Given the description of an element on the screen output the (x, y) to click on. 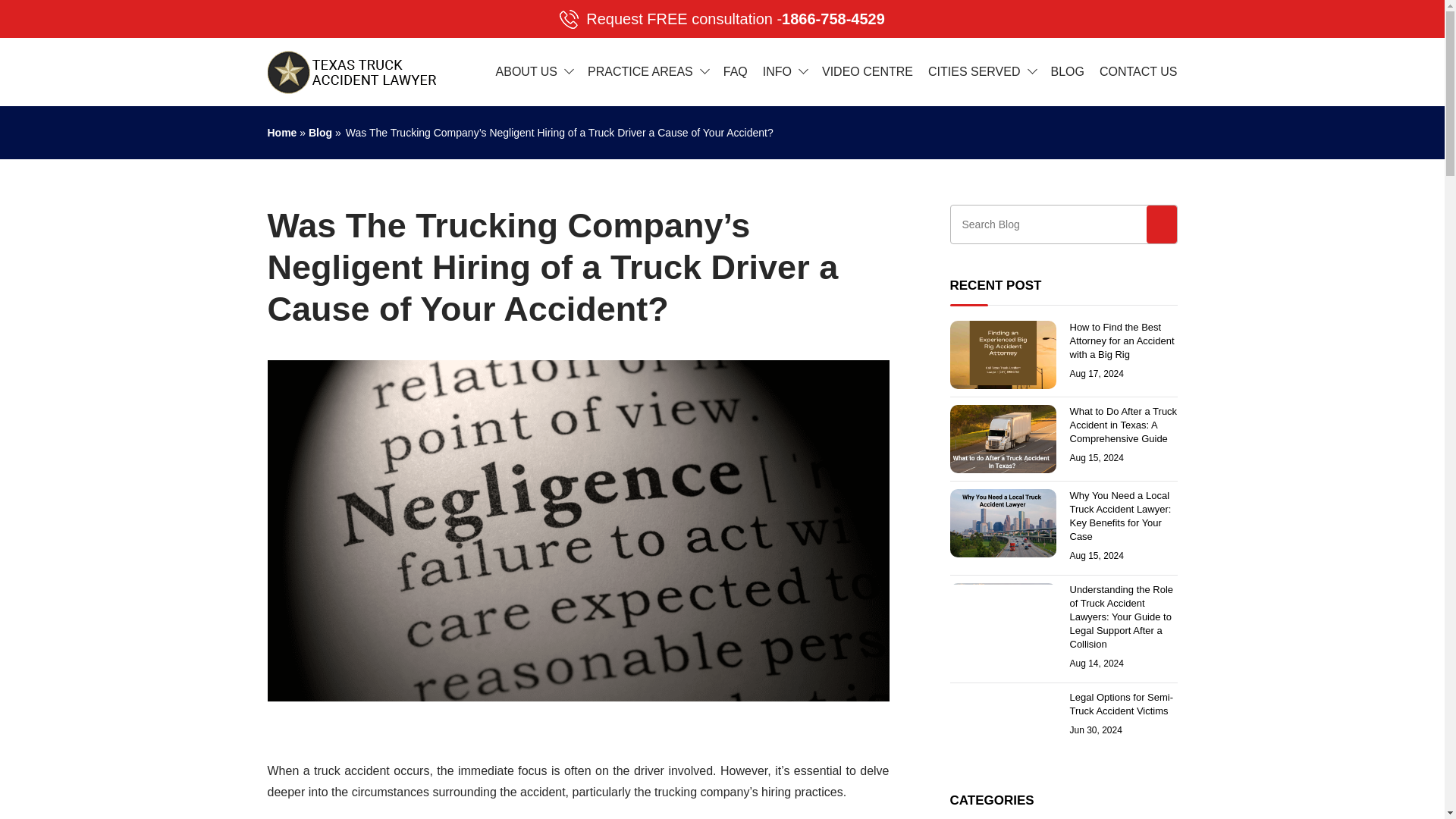
ABOUT US (526, 71)
PRACTICE AREAS (722, 18)
